Given the description of an element on the screen output the (x, y) to click on. 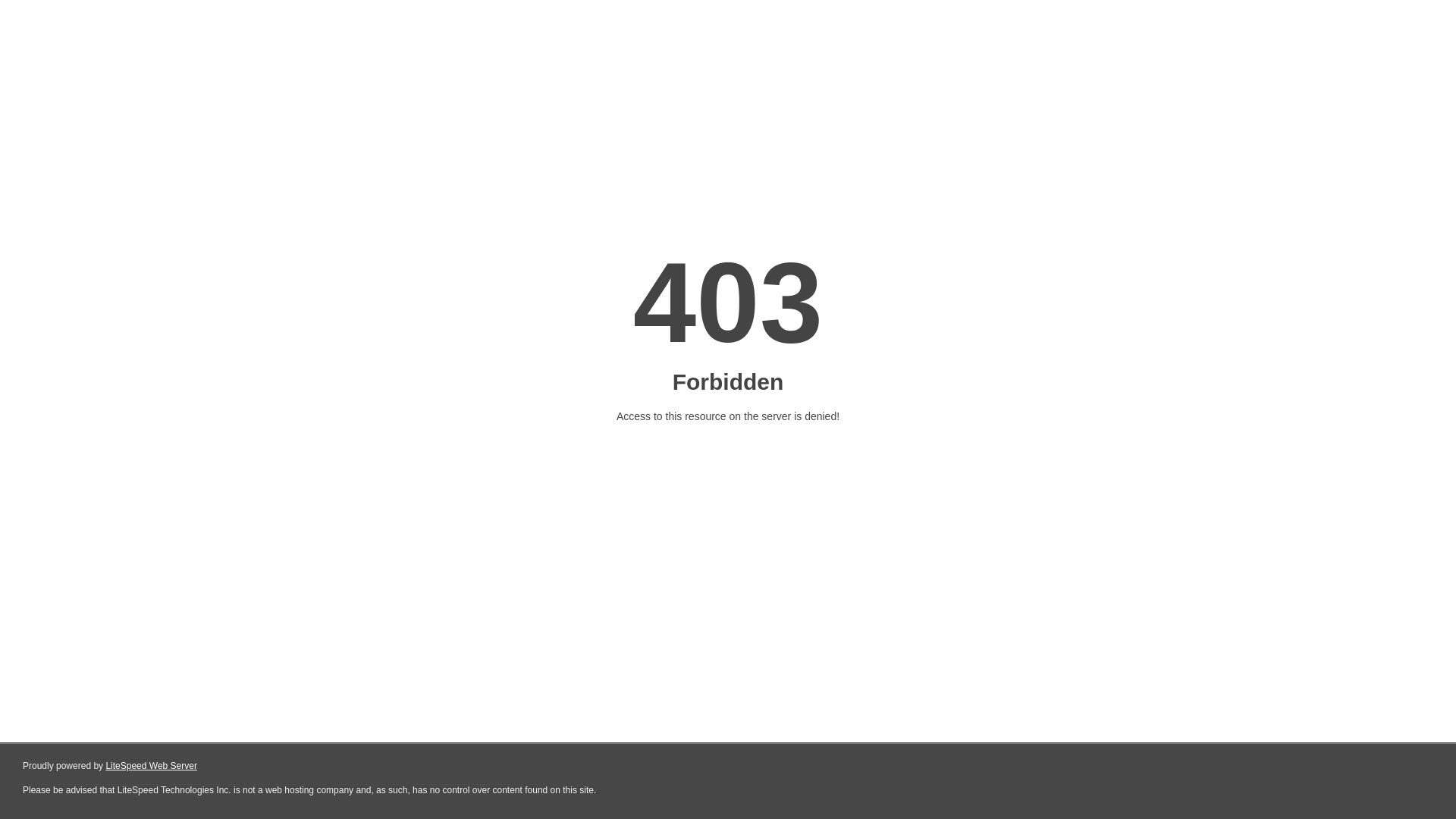
LiteSpeed Web Server (150, 765)
